Given the description of an element on the screen output the (x, y) to click on. 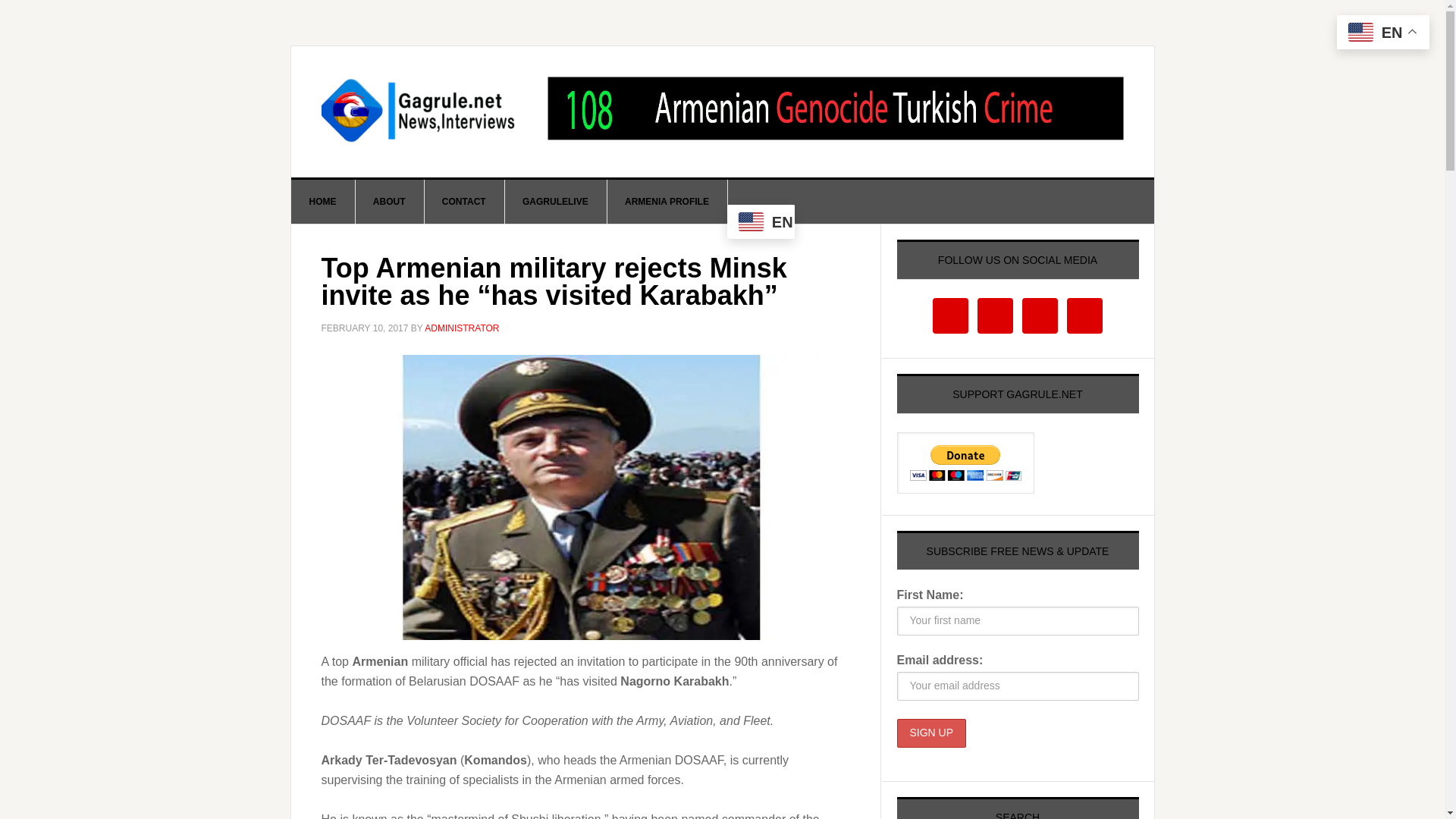
Contact (464, 201)
ARMENIA PROFILE (667, 201)
GAGRULELIVE (555, 201)
ABOUT (390, 201)
Sign up (931, 733)
Sign up (931, 733)
CONTACT (464, 201)
ADMINISTRATOR (462, 327)
HOME (323, 201)
About (390, 201)
GAGRULE.NET (419, 110)
